Given the description of an element on the screen output the (x, y) to click on. 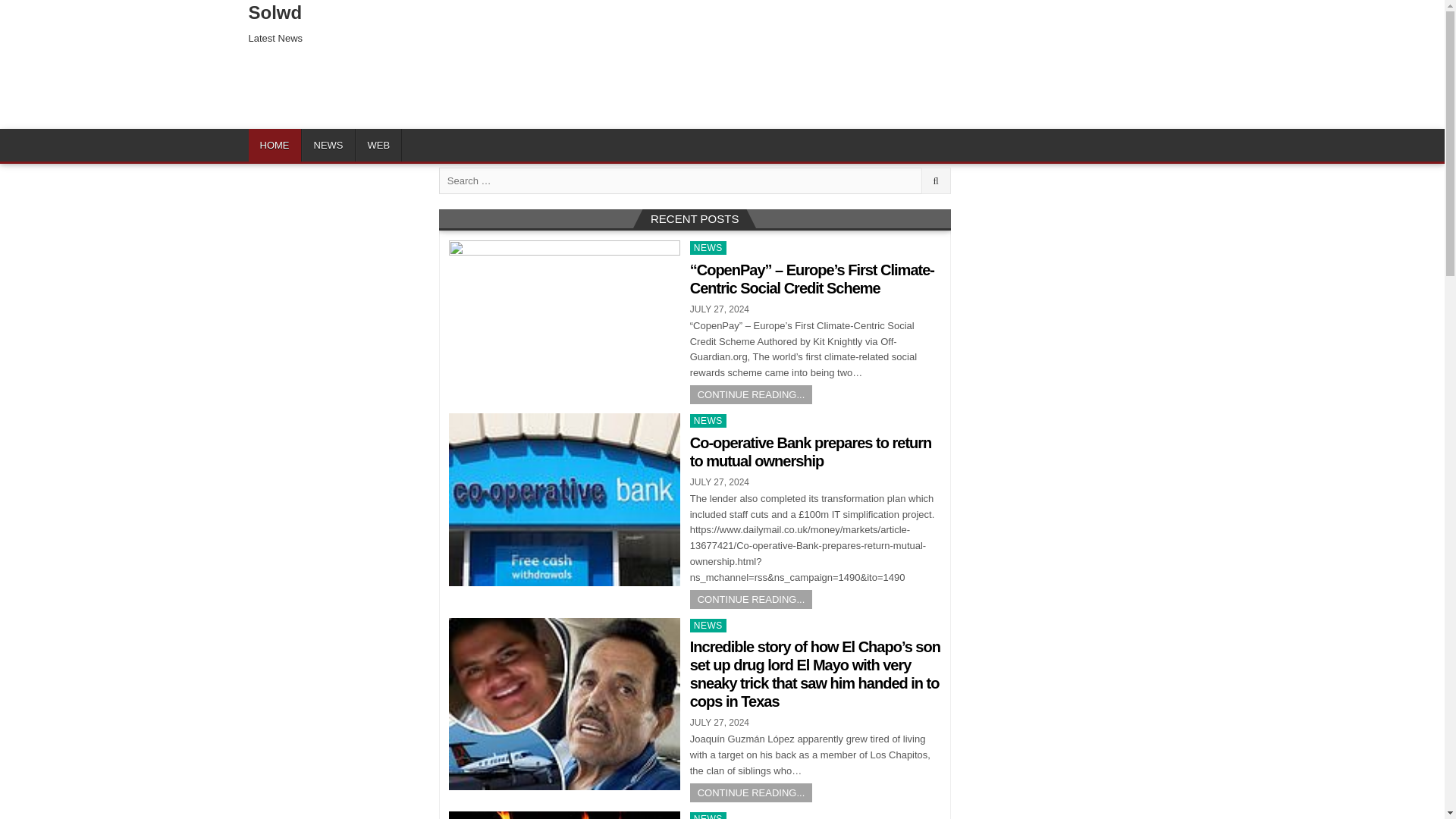
Co-operative Bank prepares to return to mutual ownership (810, 451)
CONTINUE READING... (751, 792)
NEWS (708, 815)
NEWS (708, 625)
CONTINUE READING... (751, 599)
NEWS (708, 247)
NEWS (708, 420)
HOME (274, 144)
Solwd (275, 12)
NEWS (328, 144)
CONTINUE READING... (751, 394)
WEB (378, 144)
